Given the description of an element on the screen output the (x, y) to click on. 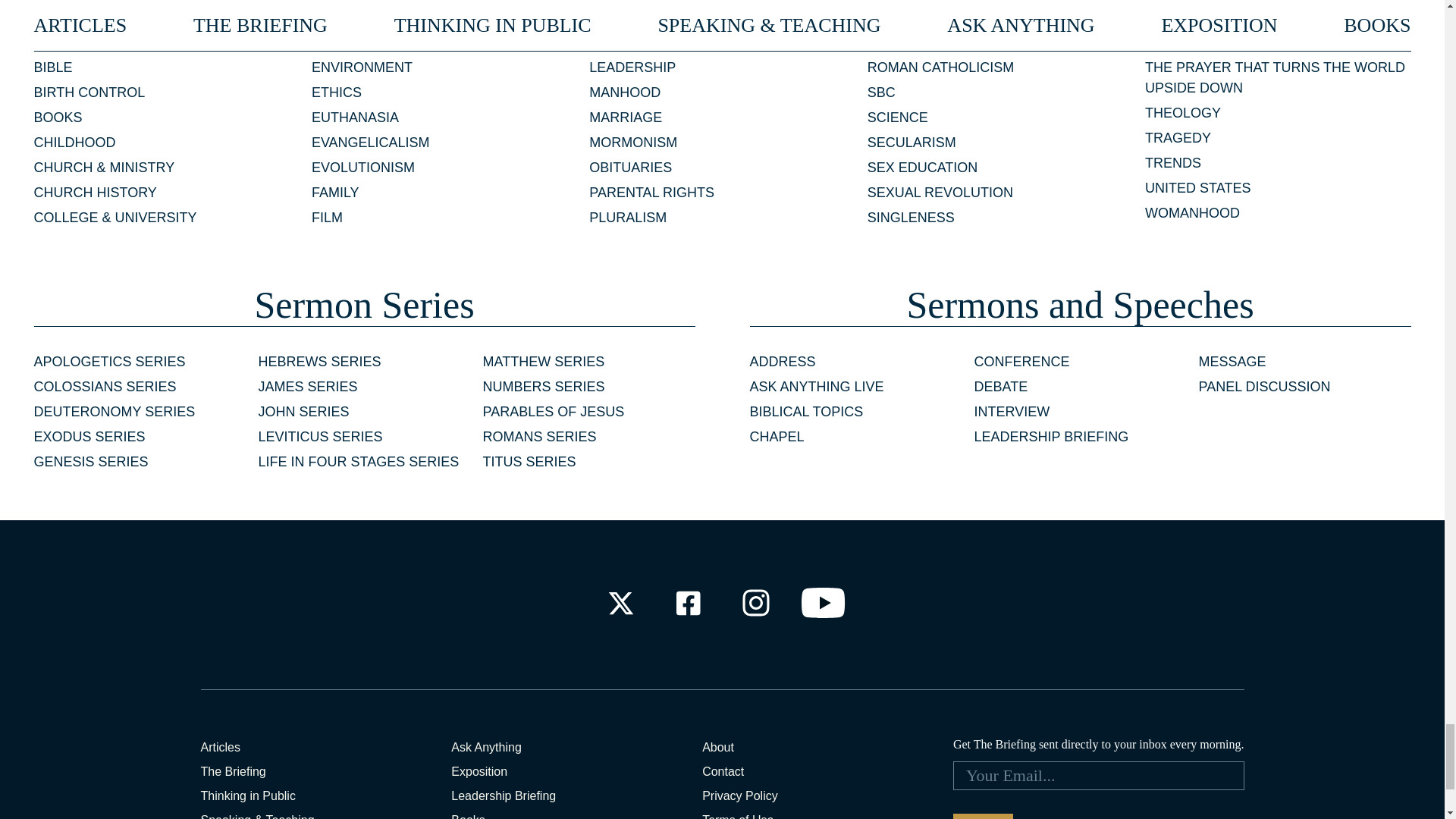
Check out our Youtube Channel (822, 602)
Check out our X Profile (620, 602)
Check out our Instagram Profile (755, 602)
Subscribe (983, 816)
Check out our Facebook Profile (687, 602)
